Given the description of an element on the screen output the (x, y) to click on. 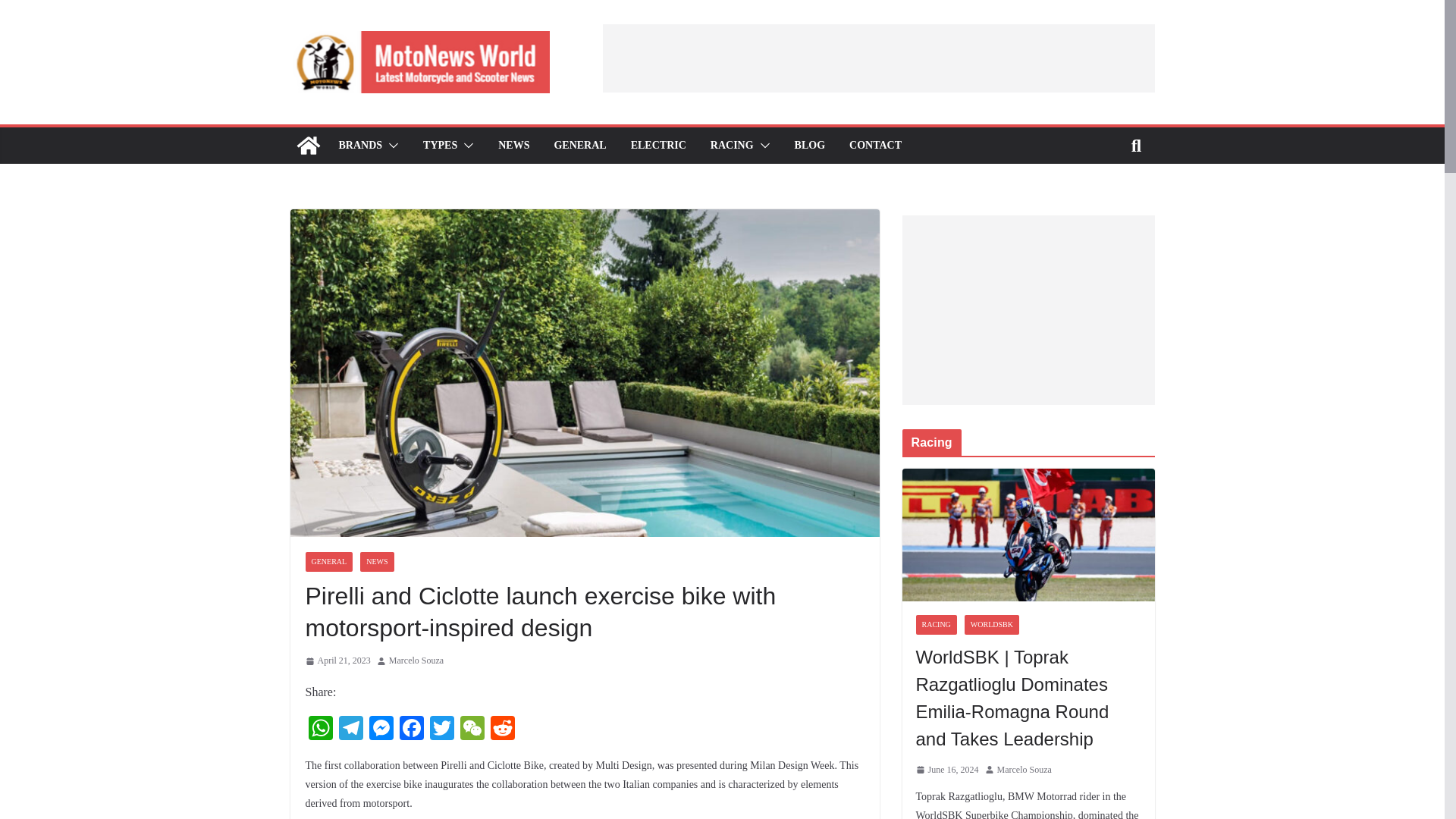
Marcelo Souza (416, 660)
NEWS (513, 145)
Advertisement (878, 58)
Facebook (411, 729)
TYPES (440, 145)
MotoNews World (307, 145)
11:55 am (336, 660)
WeChat (471, 729)
WhatsApp (319, 729)
CONTACT (874, 145)
BRANDS (359, 145)
RACING (732, 145)
Telegram (349, 729)
Twitter (441, 729)
Messenger (380, 729)
